Given the description of an element on the screen output the (x, y) to click on. 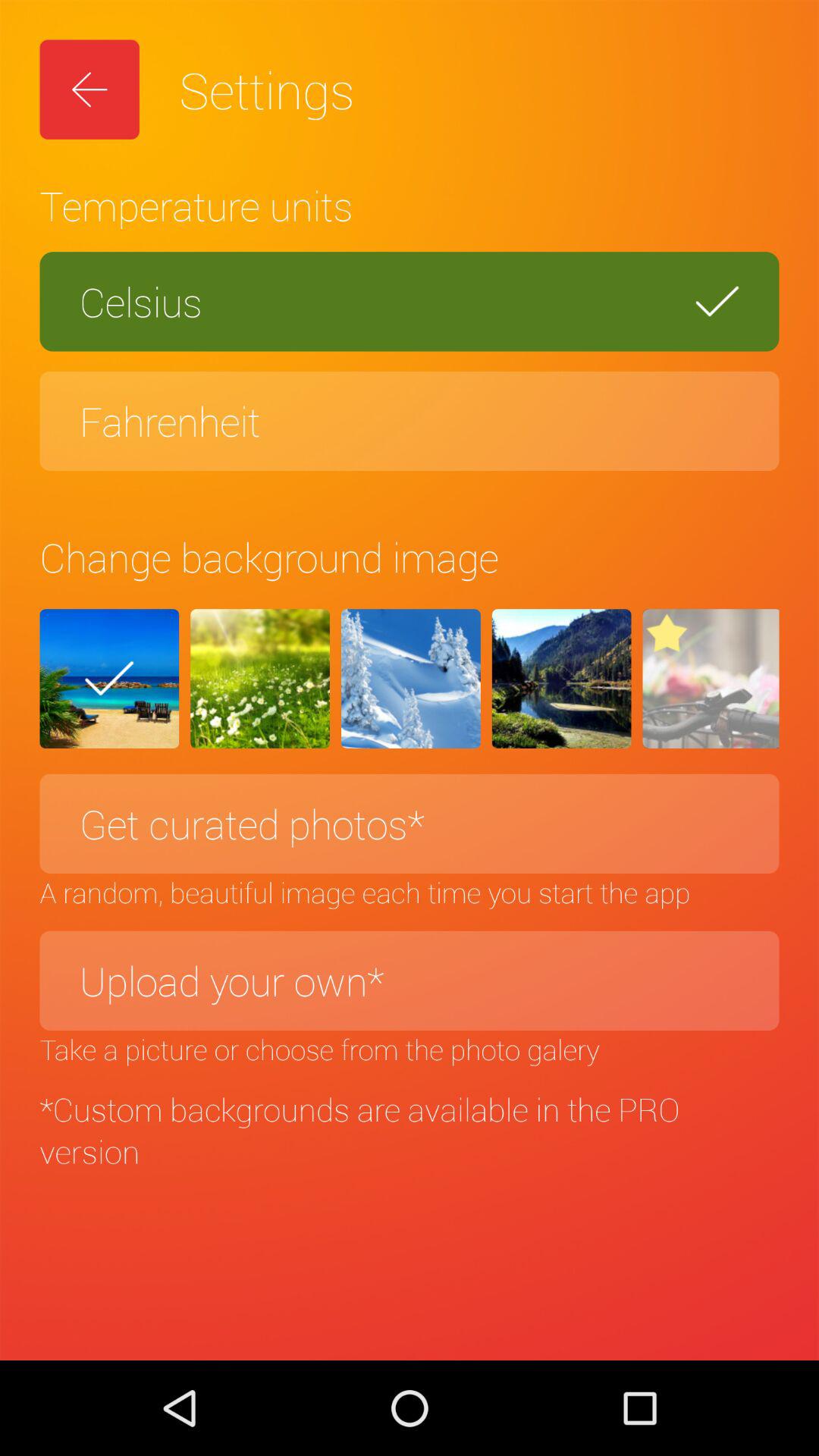
launch icon next to settings (89, 89)
